Given the description of an element on the screen output the (x, y) to click on. 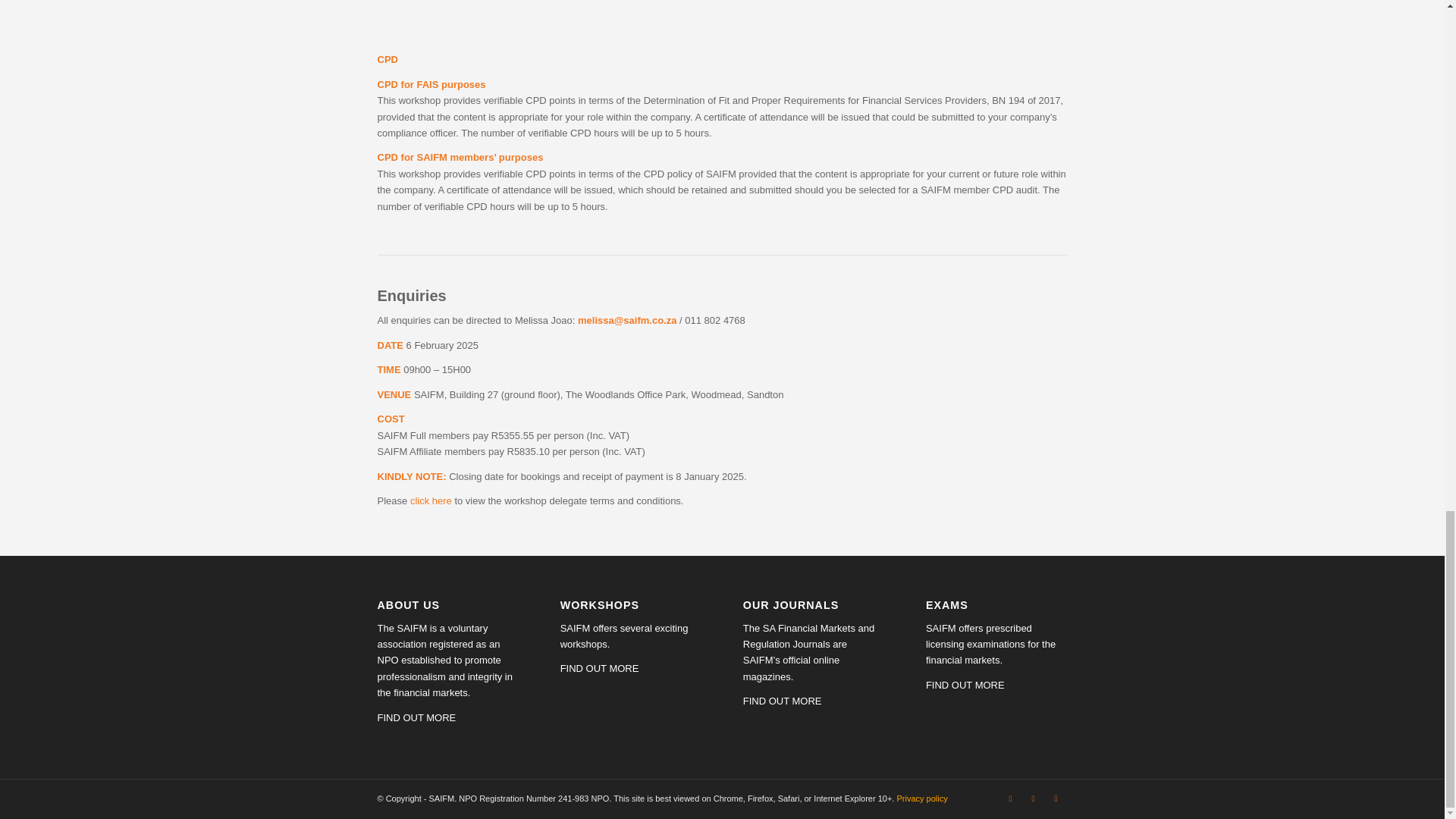
Twitter (1010, 798)
LinkedIn (1056, 798)
Facebook (1033, 798)
